Given the description of an element on the screen output the (x, y) to click on. 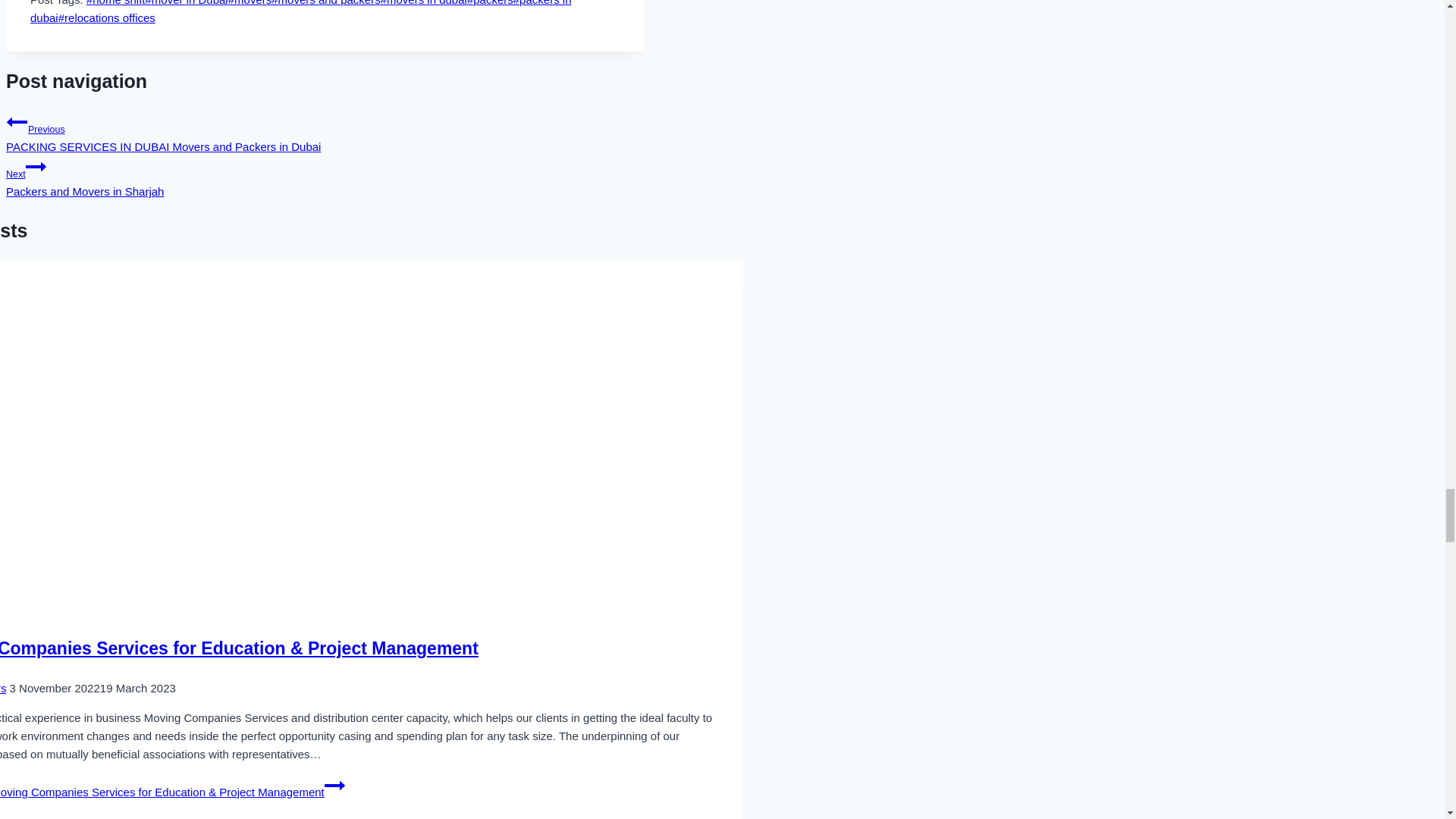
Previous (16, 121)
relocations offices (106, 17)
movers in dubai (423, 2)
packers in dubai (300, 12)
mover in Dubai (185, 2)
Continue (325, 177)
movers (36, 166)
packers (250, 2)
